Given the description of an element on the screen output the (x, y) to click on. 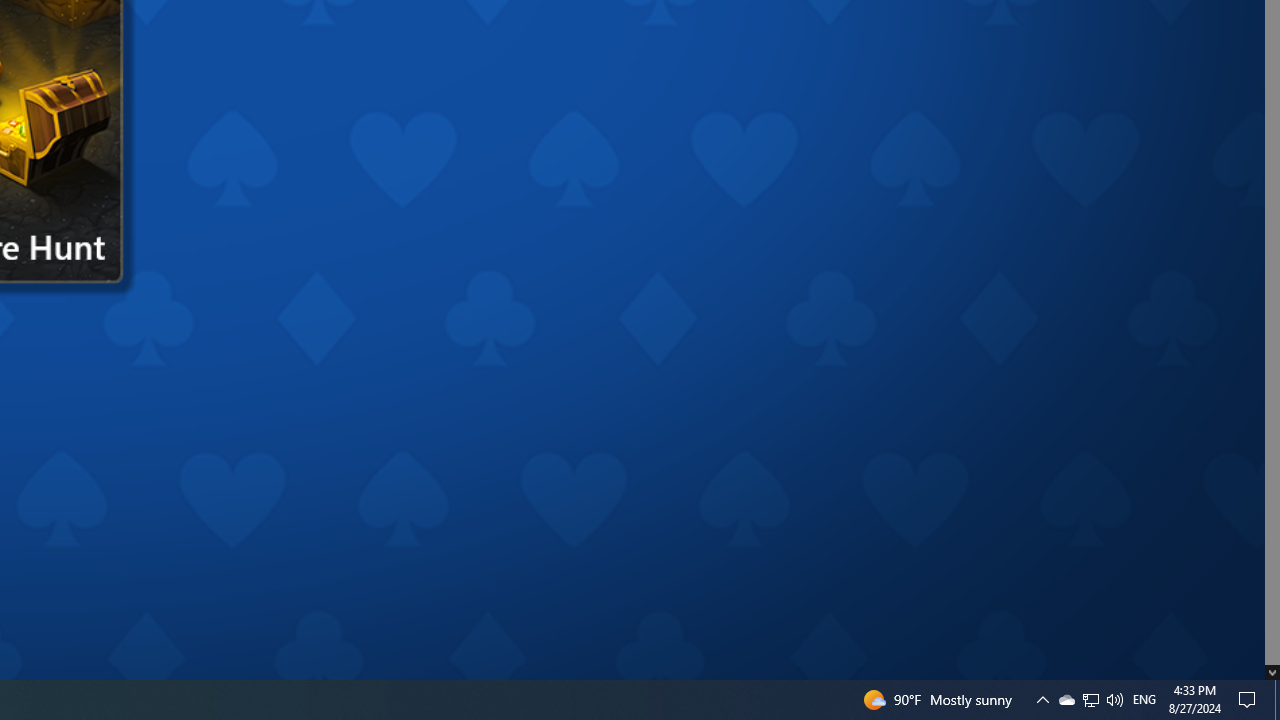
AutomationID: down_arrow_0 (1272, 672)
